Given the description of an element on the screen output the (x, y) to click on. 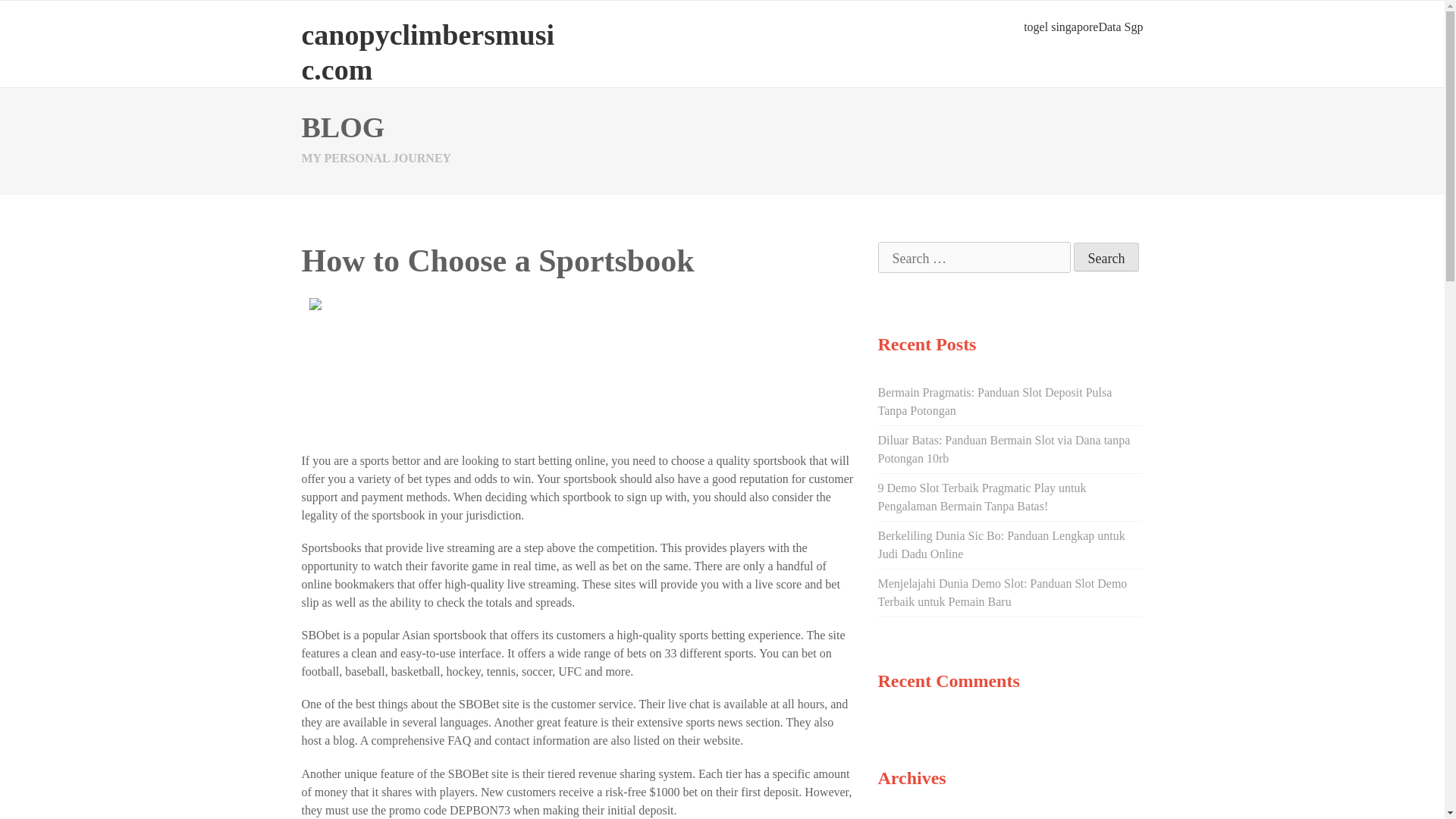
Bermain Pragmatis: Panduan Slot Deposit Pulsa Tanpa Potongan (994, 400)
Search (1107, 256)
Data Sgp (1119, 27)
Search (1107, 256)
canopyclimbersmusic.com (427, 51)
Search (1107, 256)
togel singapore (1060, 27)
